Given the description of an element on the screen output the (x, y) to click on. 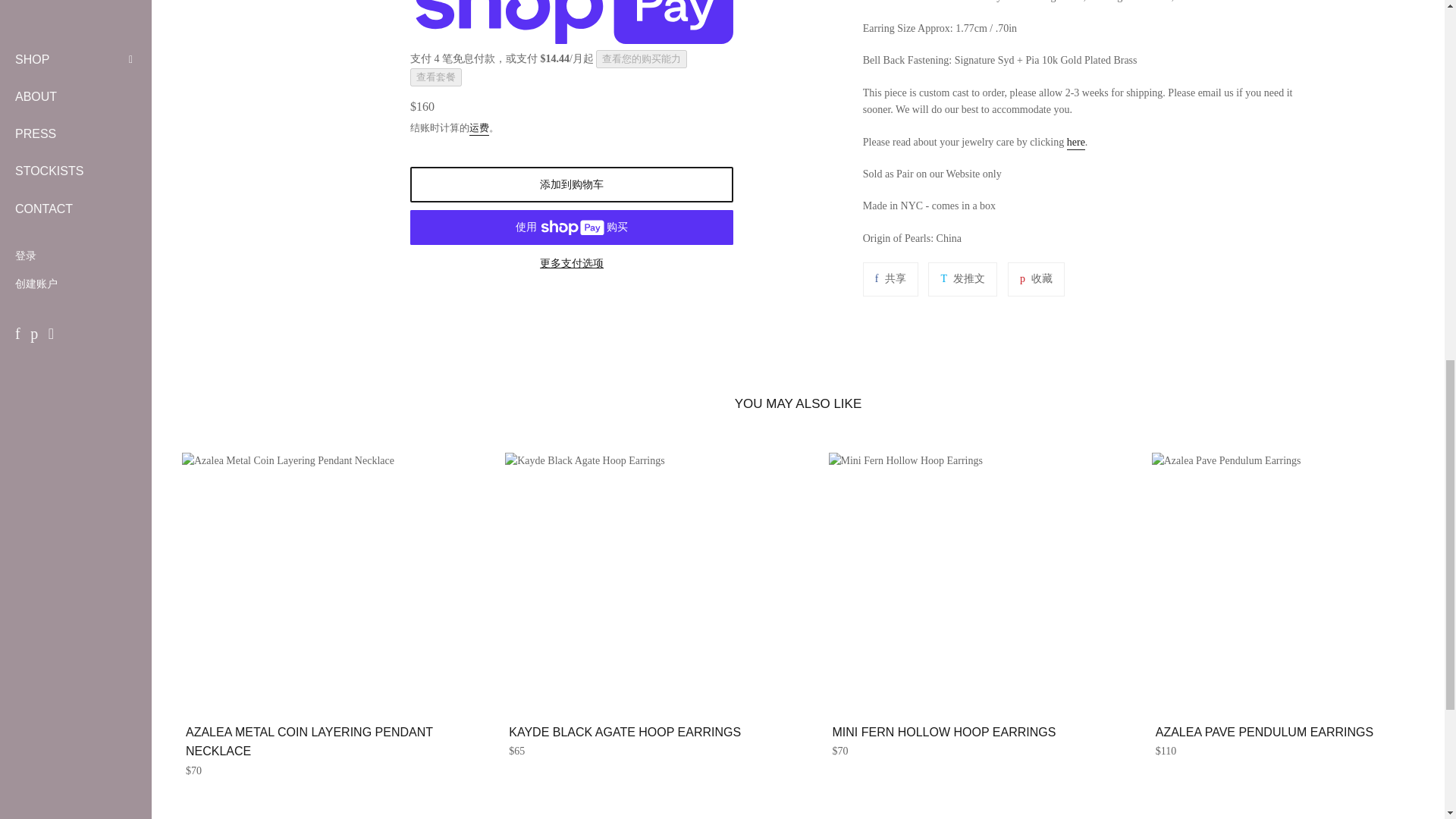
jewelry care (1075, 142)
